Given the description of an element on the screen output the (x, y) to click on. 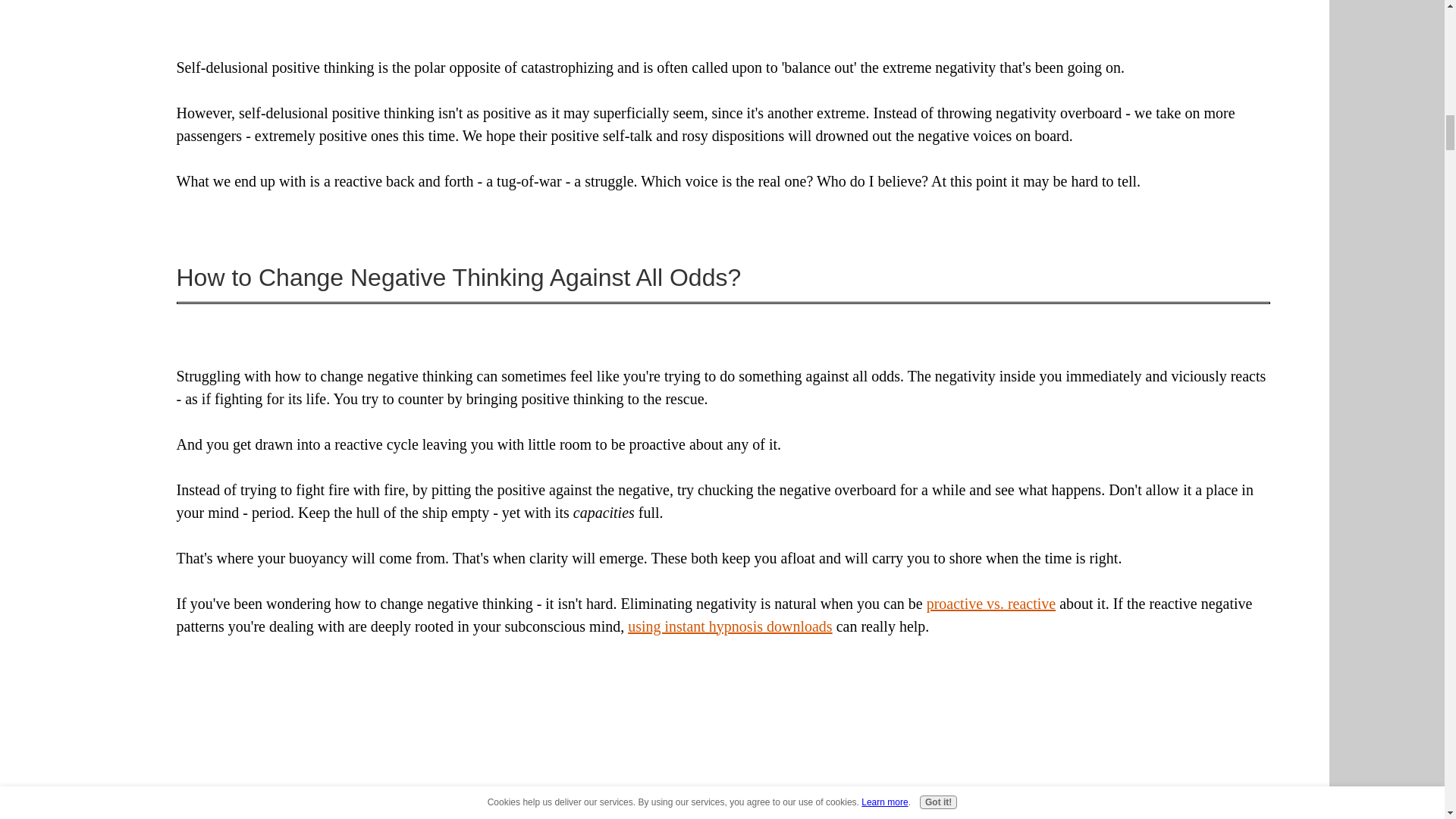
using instant hypnosis downloads (729, 626)
proactive vs. reactive (990, 603)
How to Change Your Life (308, 801)
Home (194, 801)
